Given the description of an element on the screen output the (x, y) to click on. 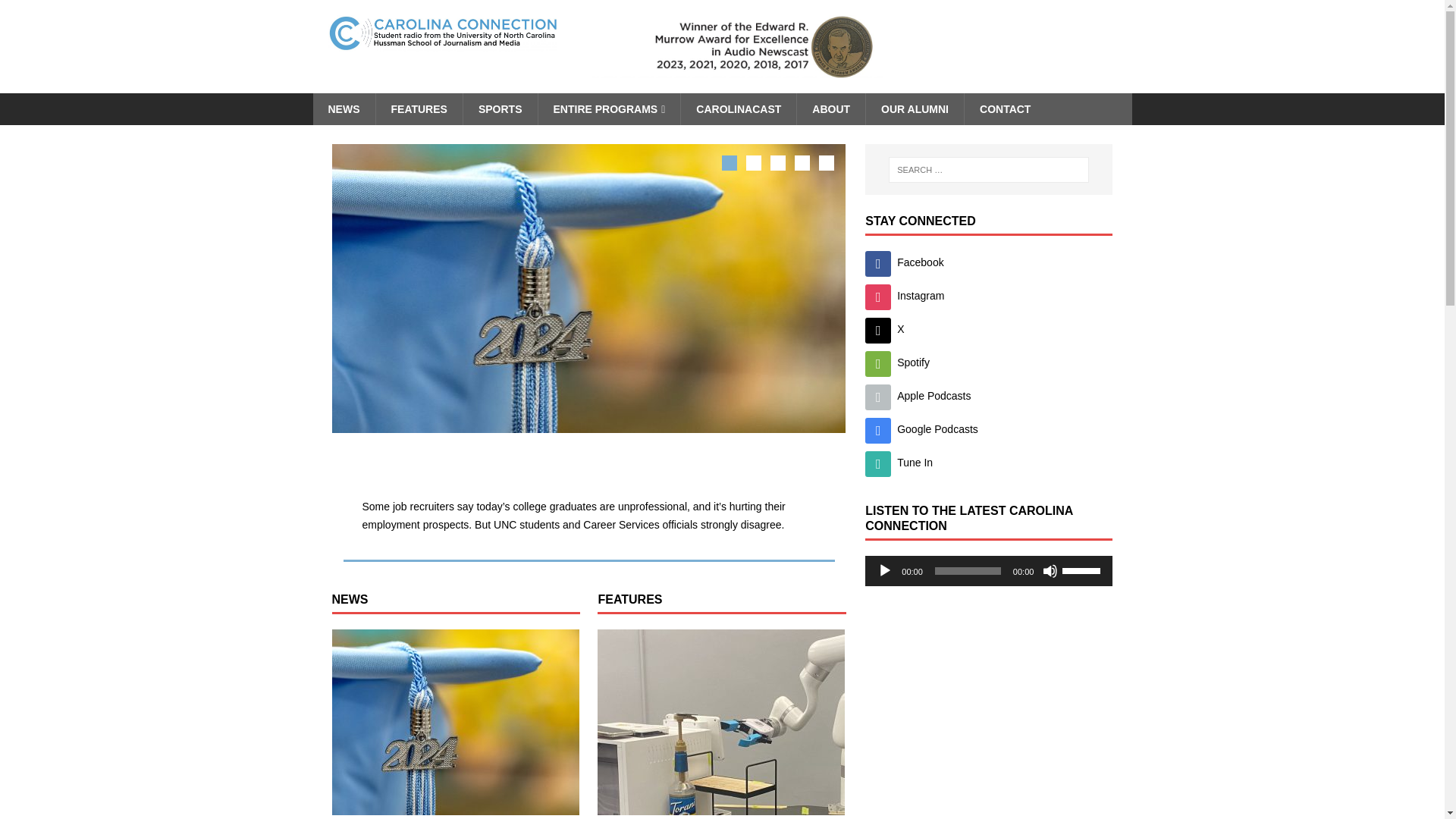
FEATURES (417, 109)
ENTIRE PROGRAMS (608, 109)
Are Gen Z job applicants unprofessional or too demanding? (565, 465)
SPORTS (500, 109)
Are Gen Z job applicants unprofessional or too demanding? (455, 721)
NEWS (343, 109)
